Given the description of an element on the screen output the (x, y) to click on. 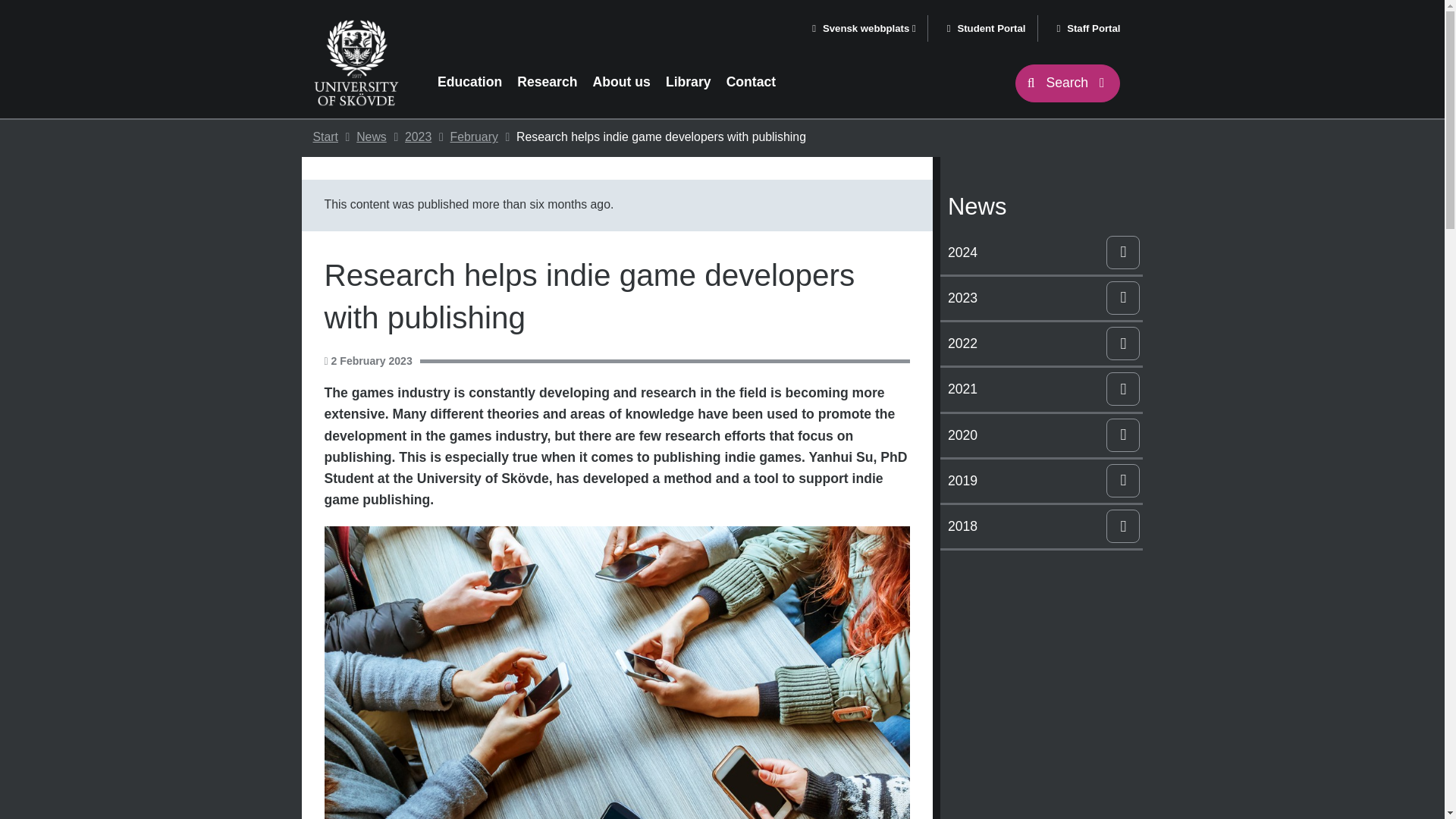
About us (622, 81)
Search (1067, 83)
2024 (1023, 248)
Start (325, 136)
2023 (417, 136)
Staff Portal (1088, 28)
Research (547, 81)
Library (688, 81)
News (371, 136)
